Given the description of an element on the screen output the (x, y) to click on. 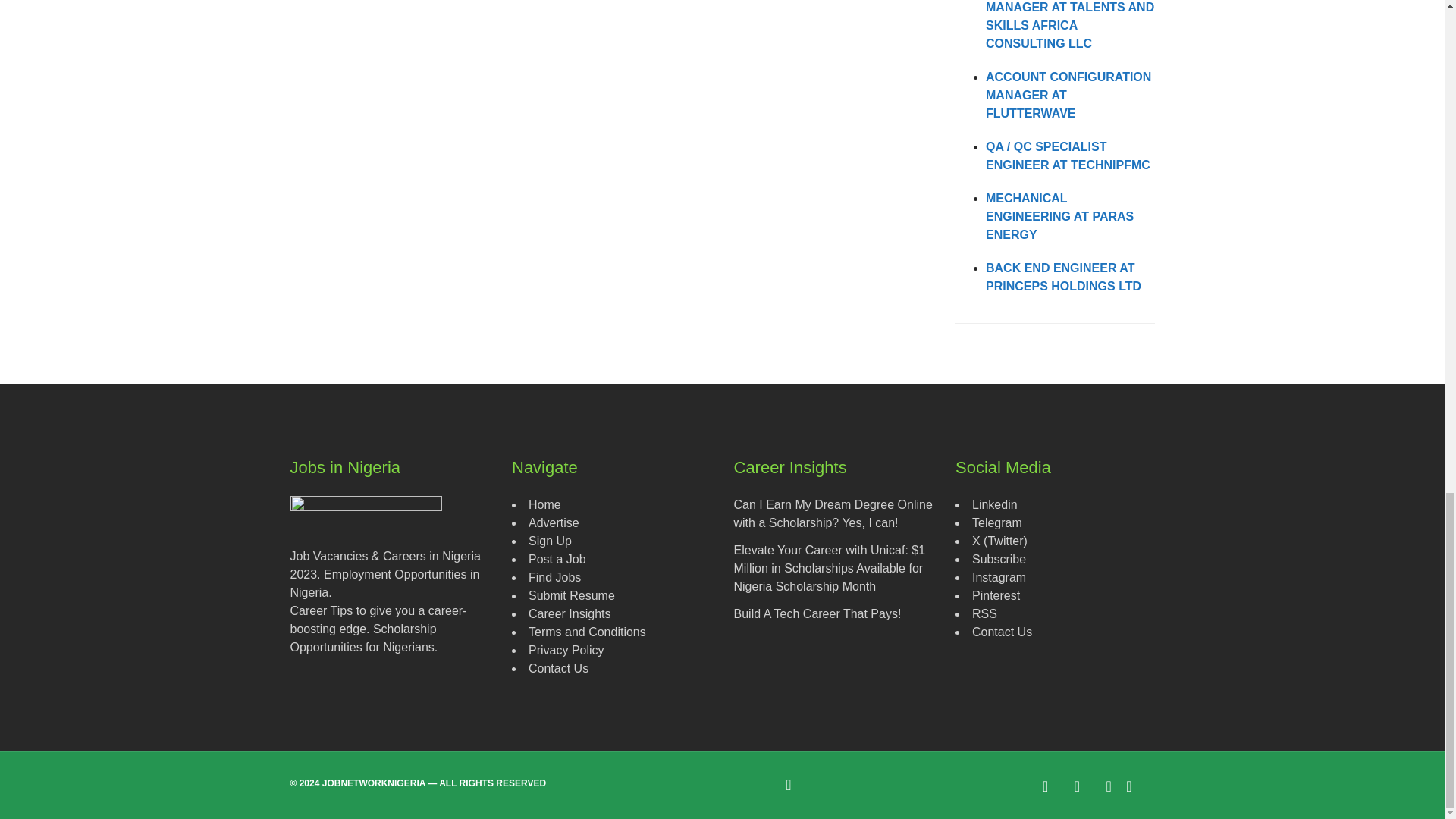
ACCOUNT CONFIGURATION MANAGER AT FLUTTERWAVE (1068, 94)
BACK END ENGINEER AT PRINCEPS HOLDINGS LTD (1063, 276)
MECHANICAL ENGINEERING AT PARAS ENERGY (1059, 215)
